Given the description of an element on the screen output the (x, y) to click on. 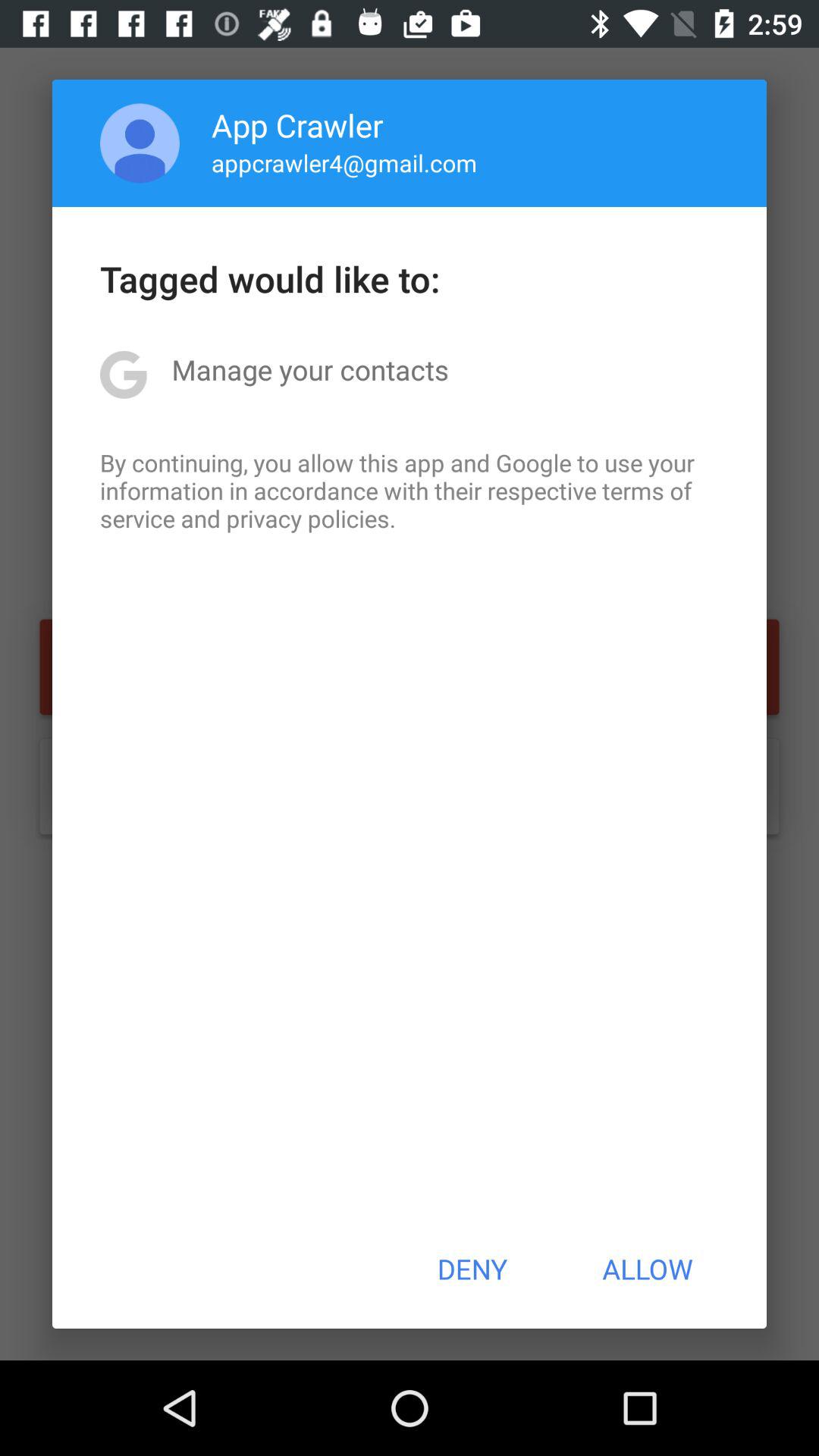
turn on the app crawler (297, 124)
